Given the description of an element on the screen output the (x, y) to click on. 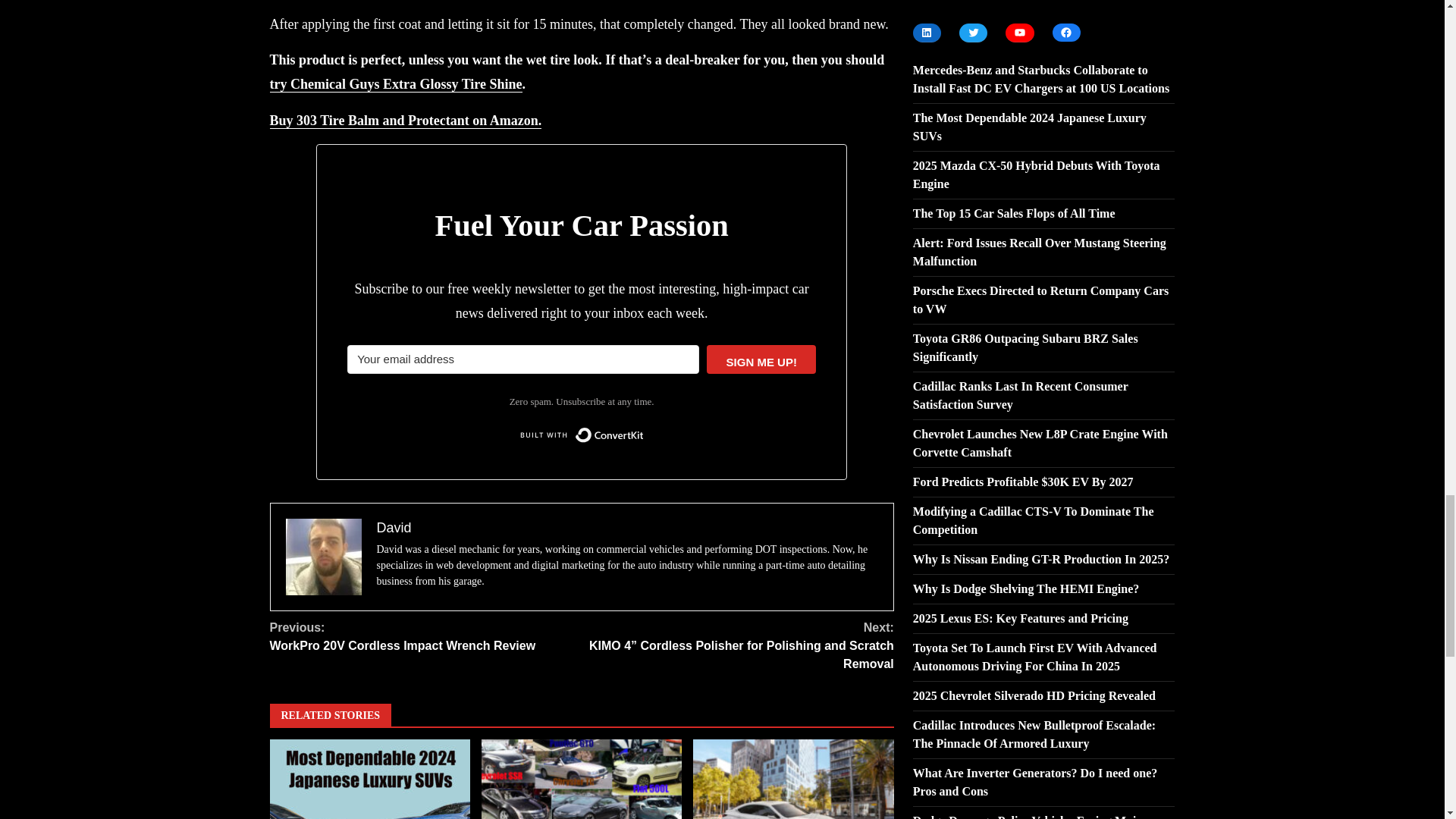
The Most Dependable 2024 Japanese Luxury SUVs (369, 779)
Buy 303 Tire Balm and Protectant on Amazon. (405, 120)
David (392, 527)
Built with ConvertKit (581, 434)
try Chemical Guys Extra Glossy Tire Shine (395, 84)
SIGN ME UP! (425, 637)
